Given the description of an element on the screen output the (x, y) to click on. 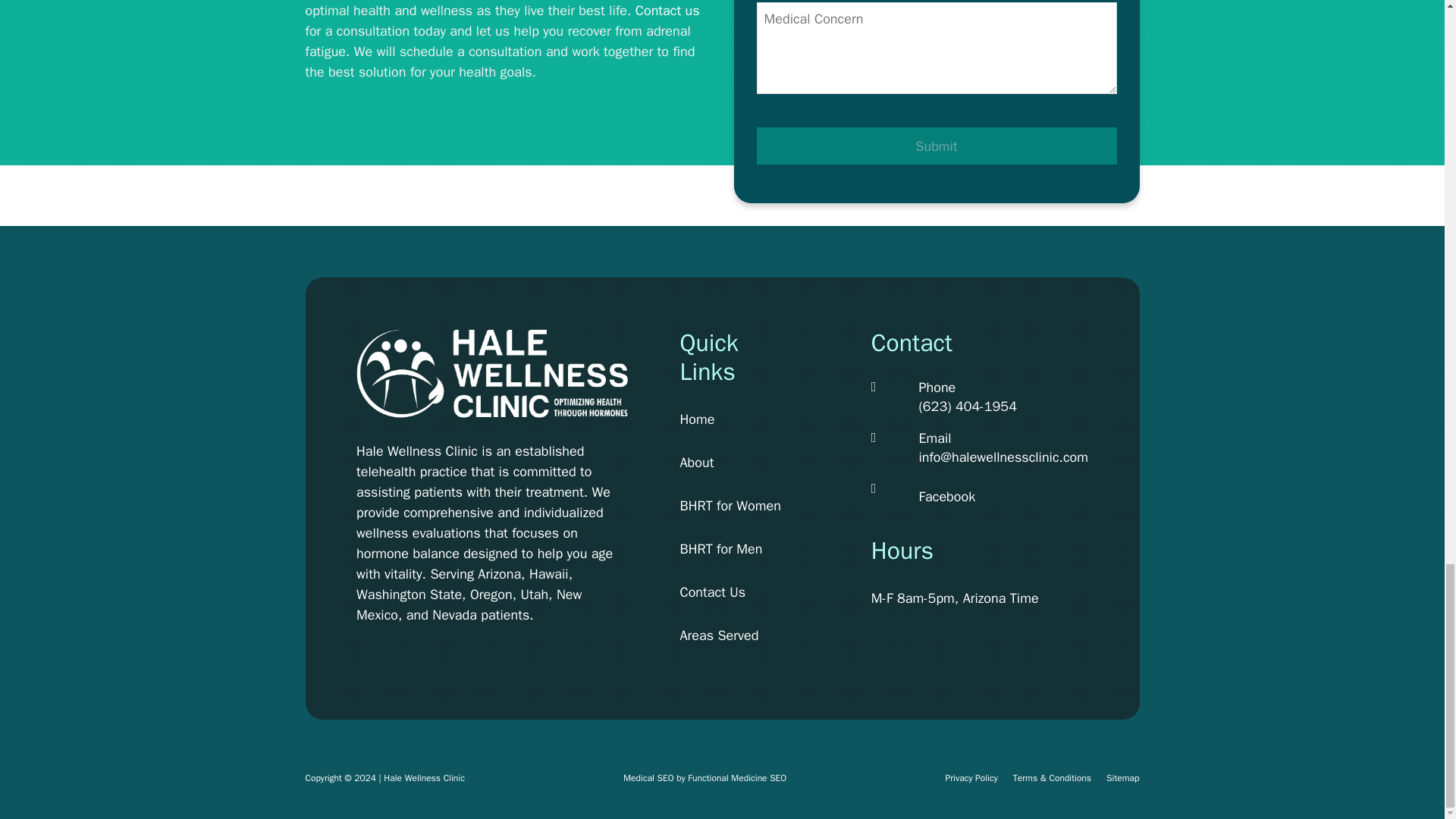
BHRT for Women (729, 506)
BHRT for Men (729, 548)
About (729, 462)
Contact us (667, 10)
Submit (936, 145)
Home (729, 419)
Areas Served (729, 635)
Contact Us (729, 592)
Facebook (946, 496)
